Given the description of an element on the screen output the (x, y) to click on. 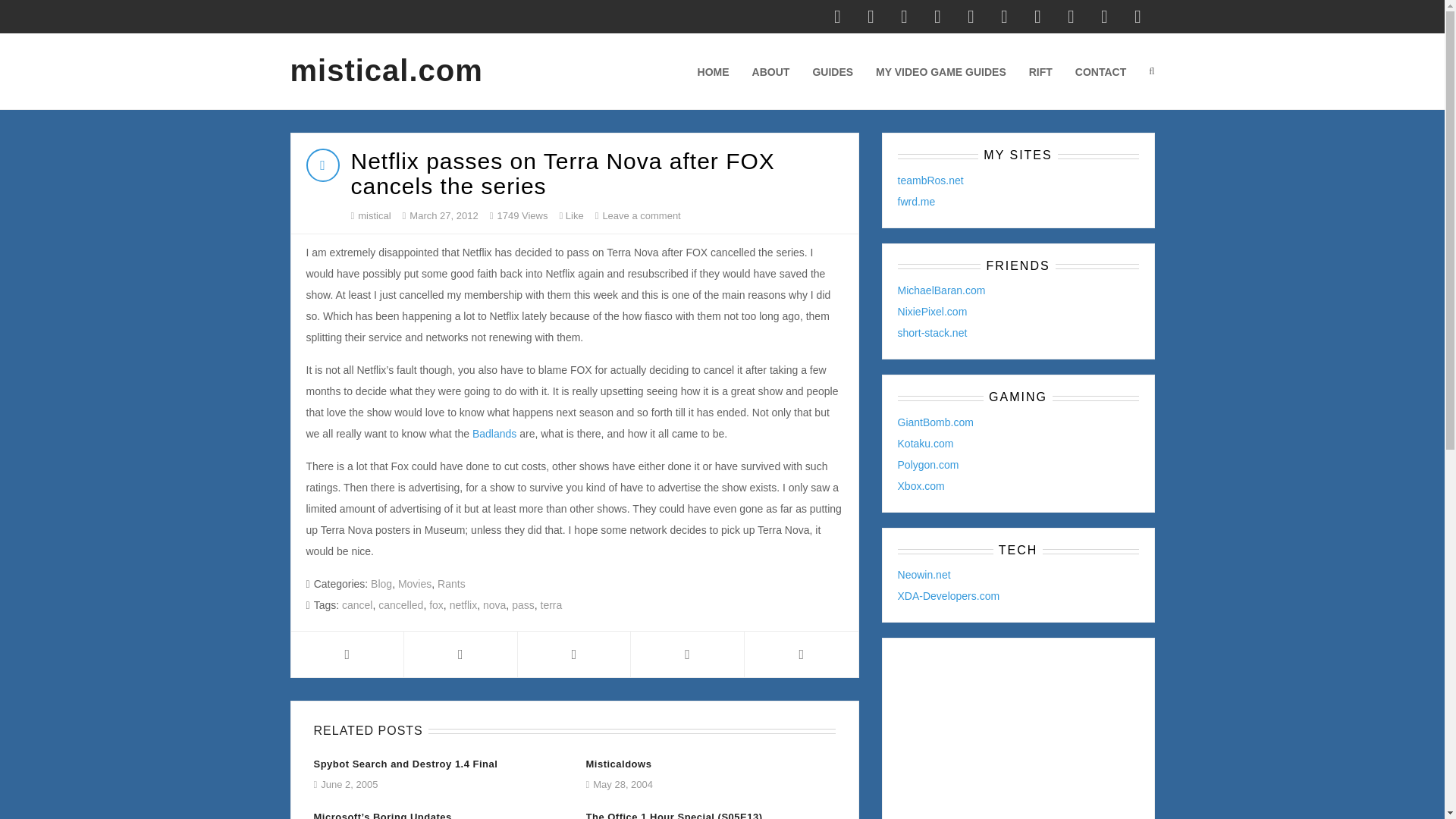
netflix (463, 604)
GUIDES (832, 70)
RIFT (1040, 70)
Like (571, 216)
Badlands (493, 433)
Leave a comment (640, 215)
MY VIDEO GAME GUIDES (941, 70)
mistical.com (384, 70)
ABOUT (771, 70)
fox (436, 604)
Blog (381, 583)
Rants (451, 583)
cancel (357, 604)
cancelled (400, 604)
Movies (413, 583)
